Given the description of an element on the screen output the (x, y) to click on. 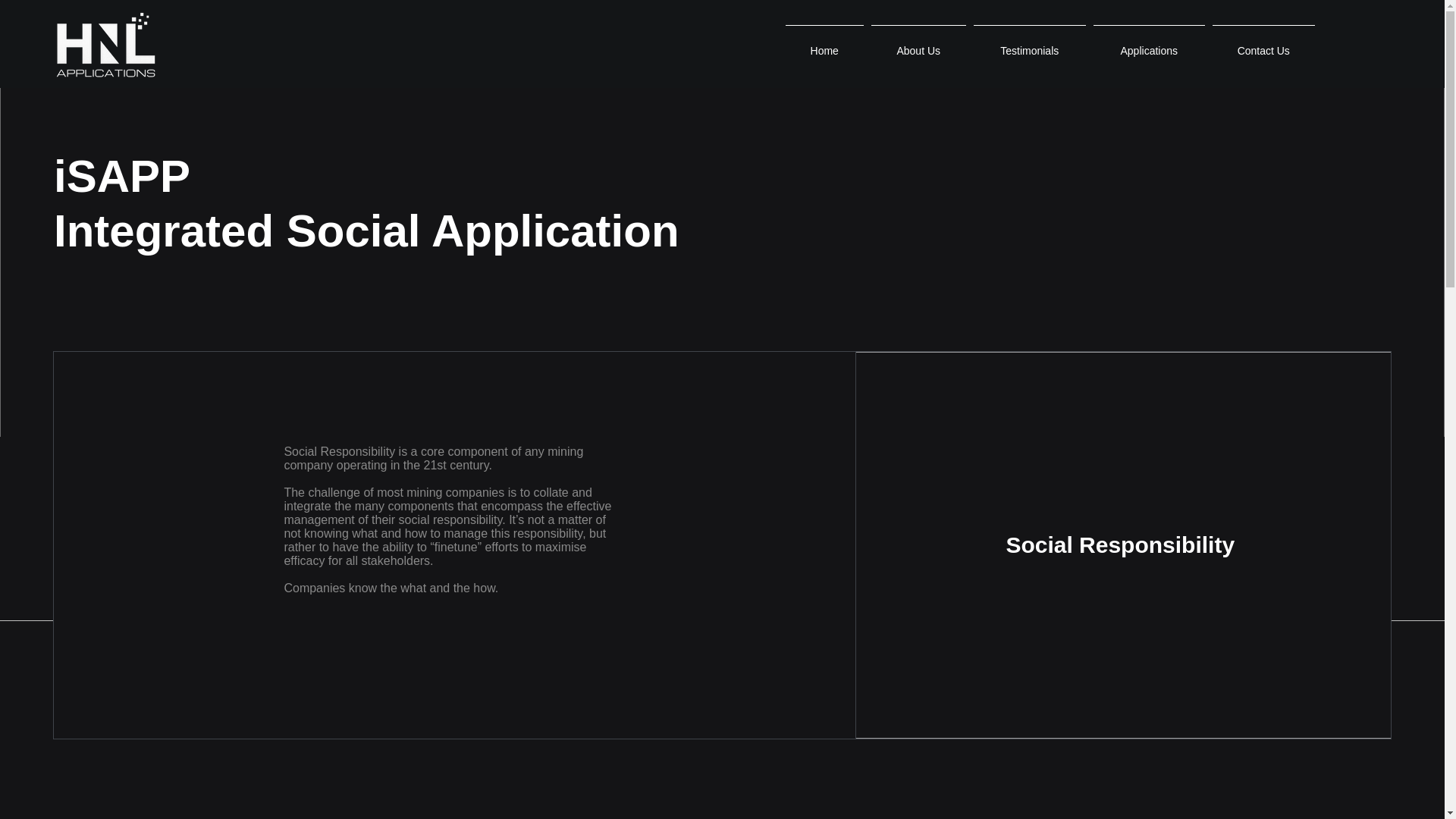
About Us (918, 44)
Testimonials (1029, 44)
Home (824, 44)
